Given the description of an element on the screen output the (x, y) to click on. 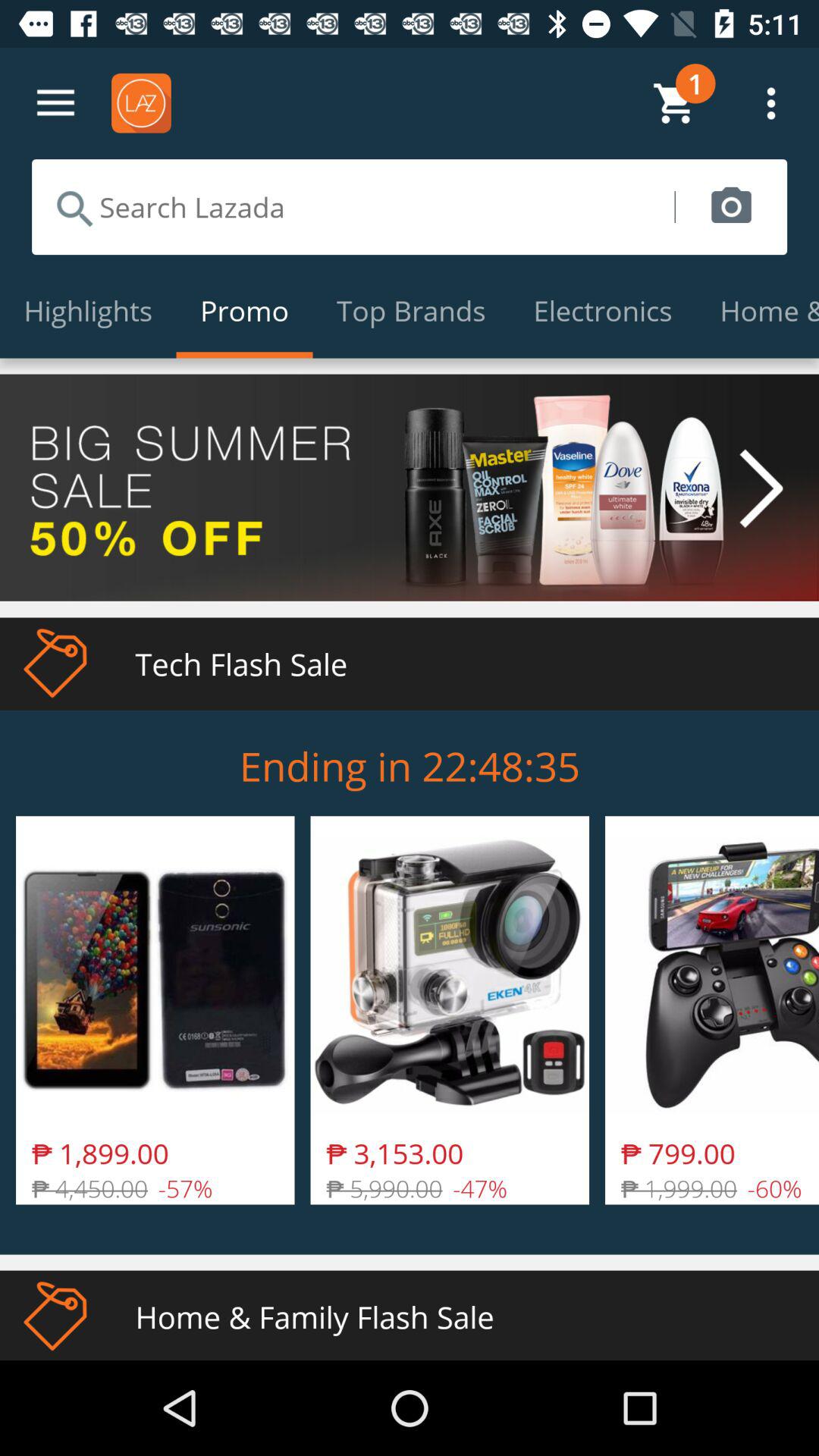
category (55, 103)
